Given the description of an element on the screen output the (x, y) to click on. 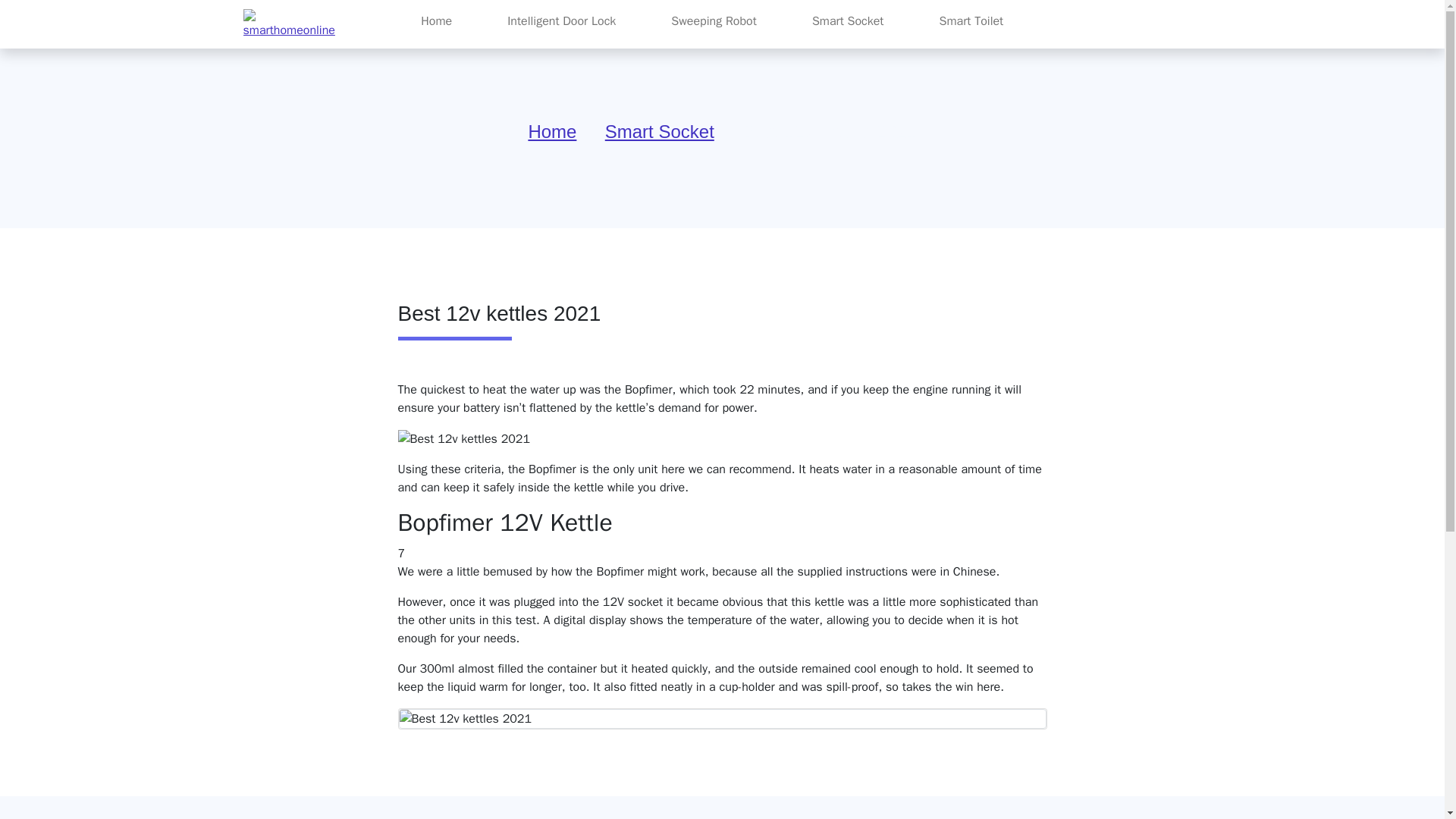
Smart Socket (847, 20)
Smart Socket (847, 20)
Home (436, 20)
Intelligent Door Lock (561, 20)
Smart Socket (659, 131)
Sweeping Robot (713, 20)
Home (551, 131)
Intelligent Door Lock (561, 20)
smarthomeonline (289, 24)
Best 12v kettles 2021 (463, 438)
Smart Toilet (971, 20)
Smart Toilet (971, 20)
Sweeping Robot (713, 20)
